Given the description of an element on the screen output the (x, y) to click on. 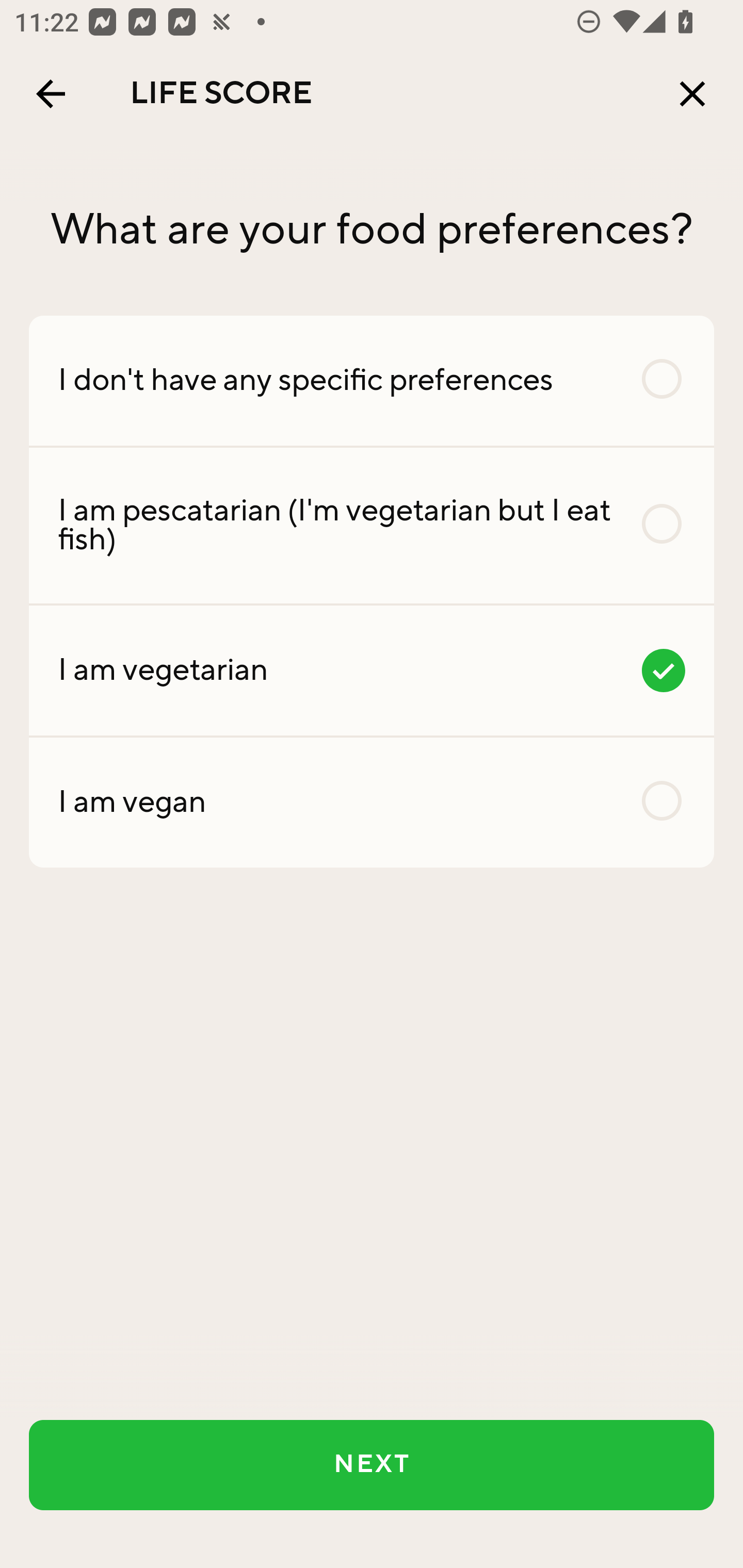
I don't have any specific preferences (371, 380)
I am pescatarian (I'm vegetarian but I eat fish) (371, 525)
I am vegetarian (371, 670)
I am vegan (371, 801)
NEXT (371, 1464)
